Given the description of an element on the screen output the (x, y) to click on. 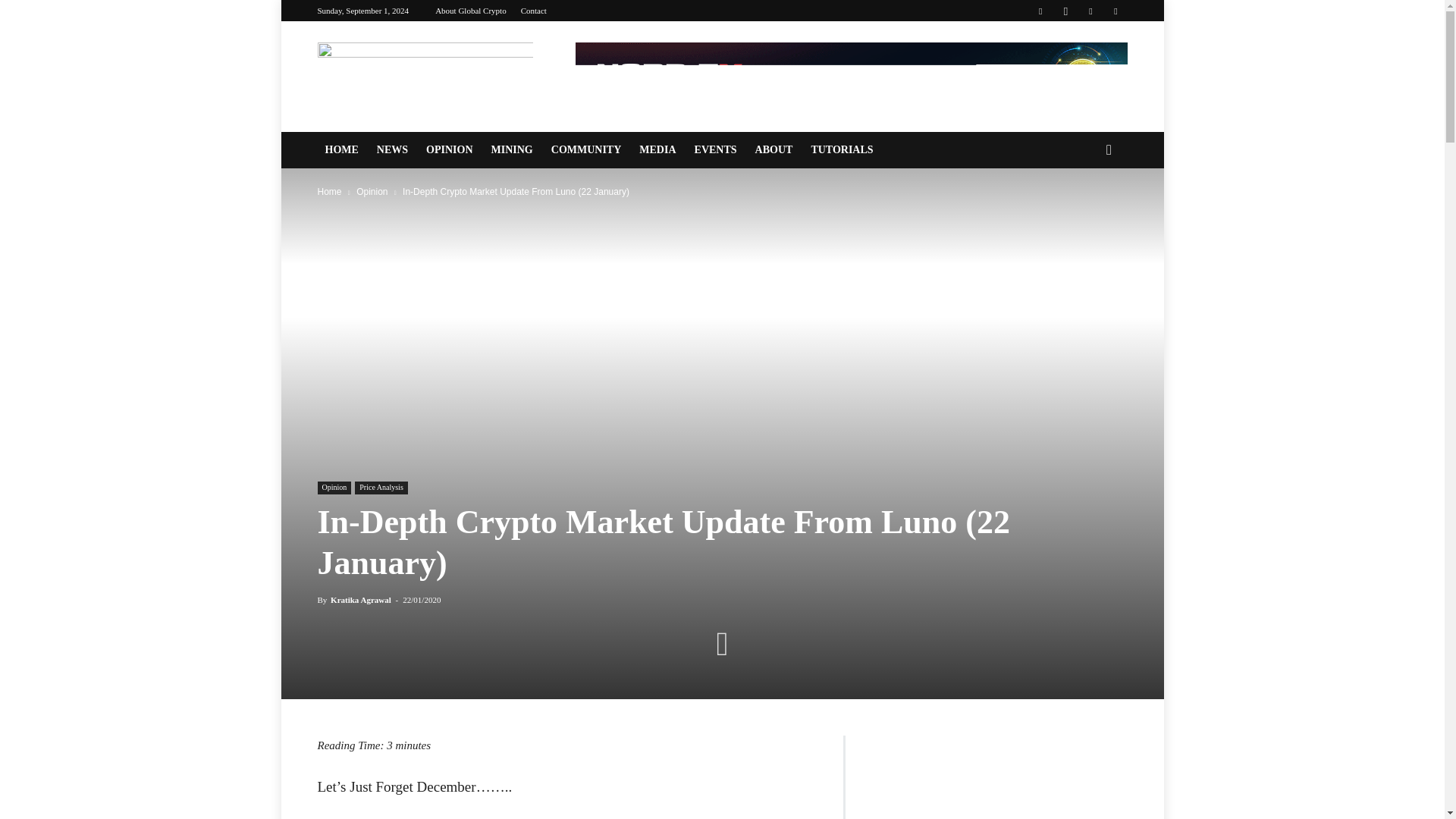
Youtube (1114, 10)
View all posts in Opinion (371, 191)
Facebook (1040, 10)
Keeping you cryptocurrent (424, 76)
Instagram (1065, 10)
Twitter (1090, 10)
